Given the description of an element on the screen output the (x, y) to click on. 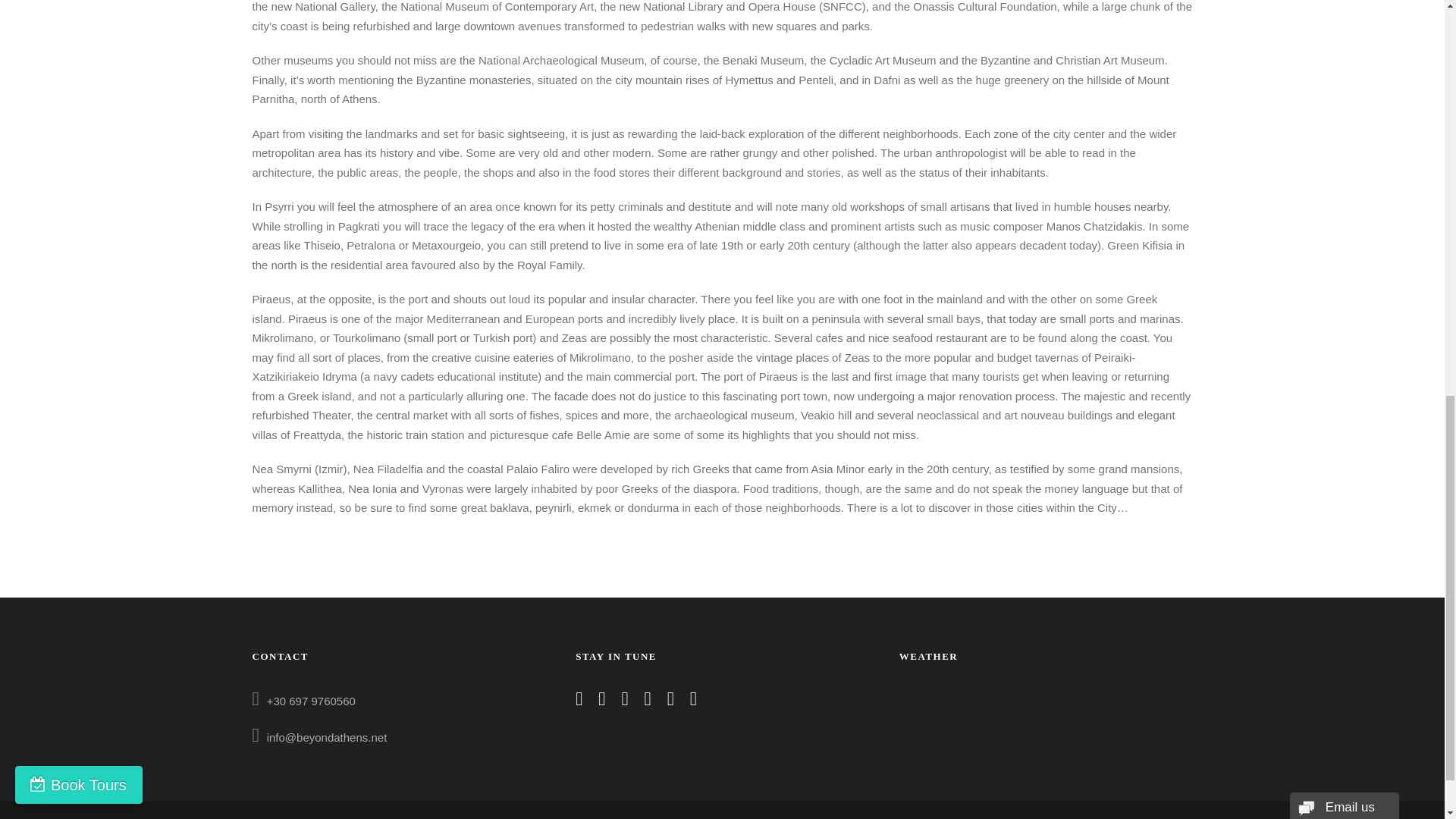
youtube (670, 700)
FareHarbor (1342, 64)
facebook (578, 700)
linkedin (601, 700)
pinterest (624, 700)
twitter (647, 700)
instagram (693, 700)
